Given the description of an element on the screen output the (x, y) to click on. 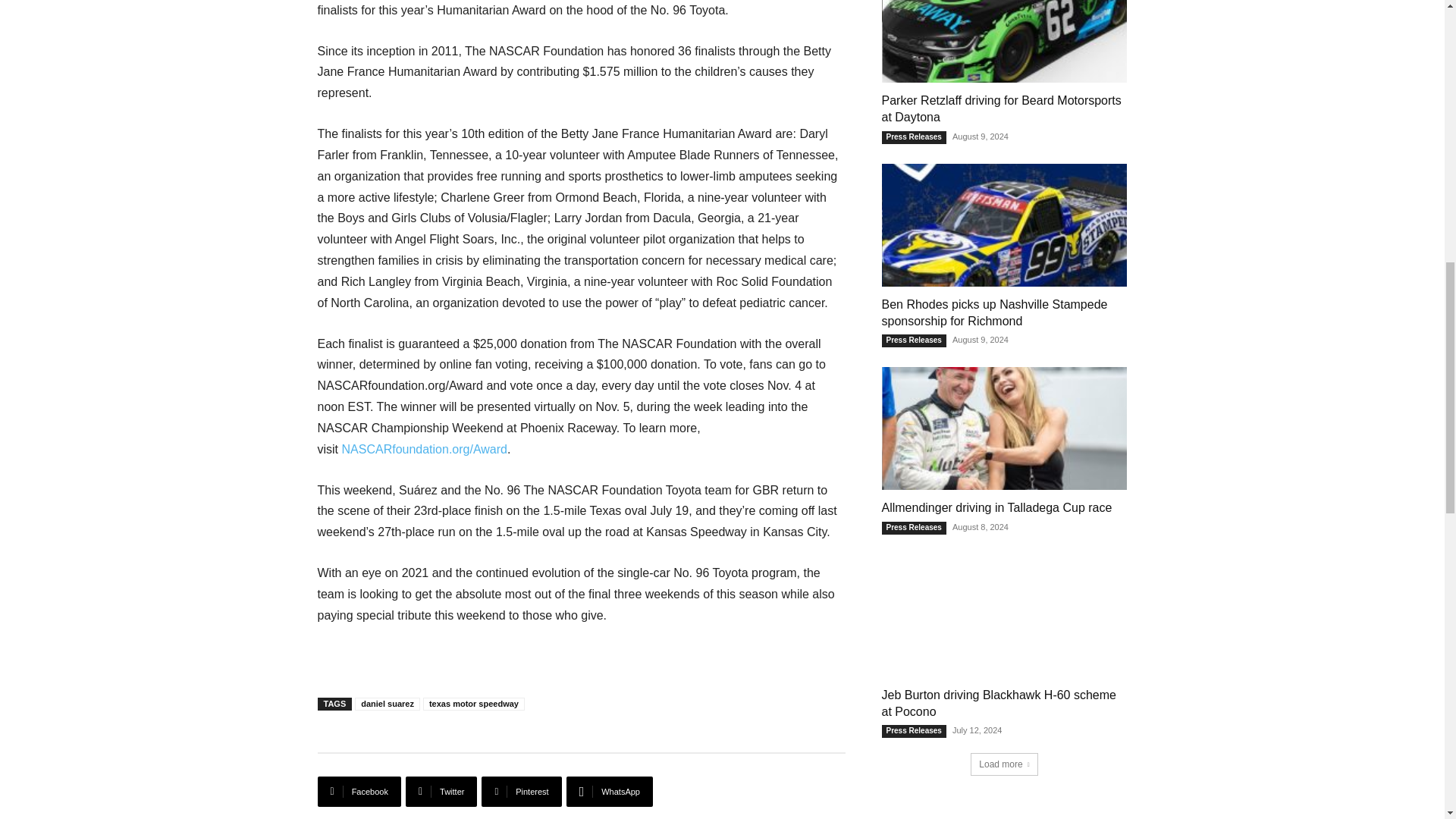
Pinterest (520, 791)
Twitter (441, 791)
Facebook (358, 791)
WhatsApp (609, 791)
